Given the description of an element on the screen output the (x, y) to click on. 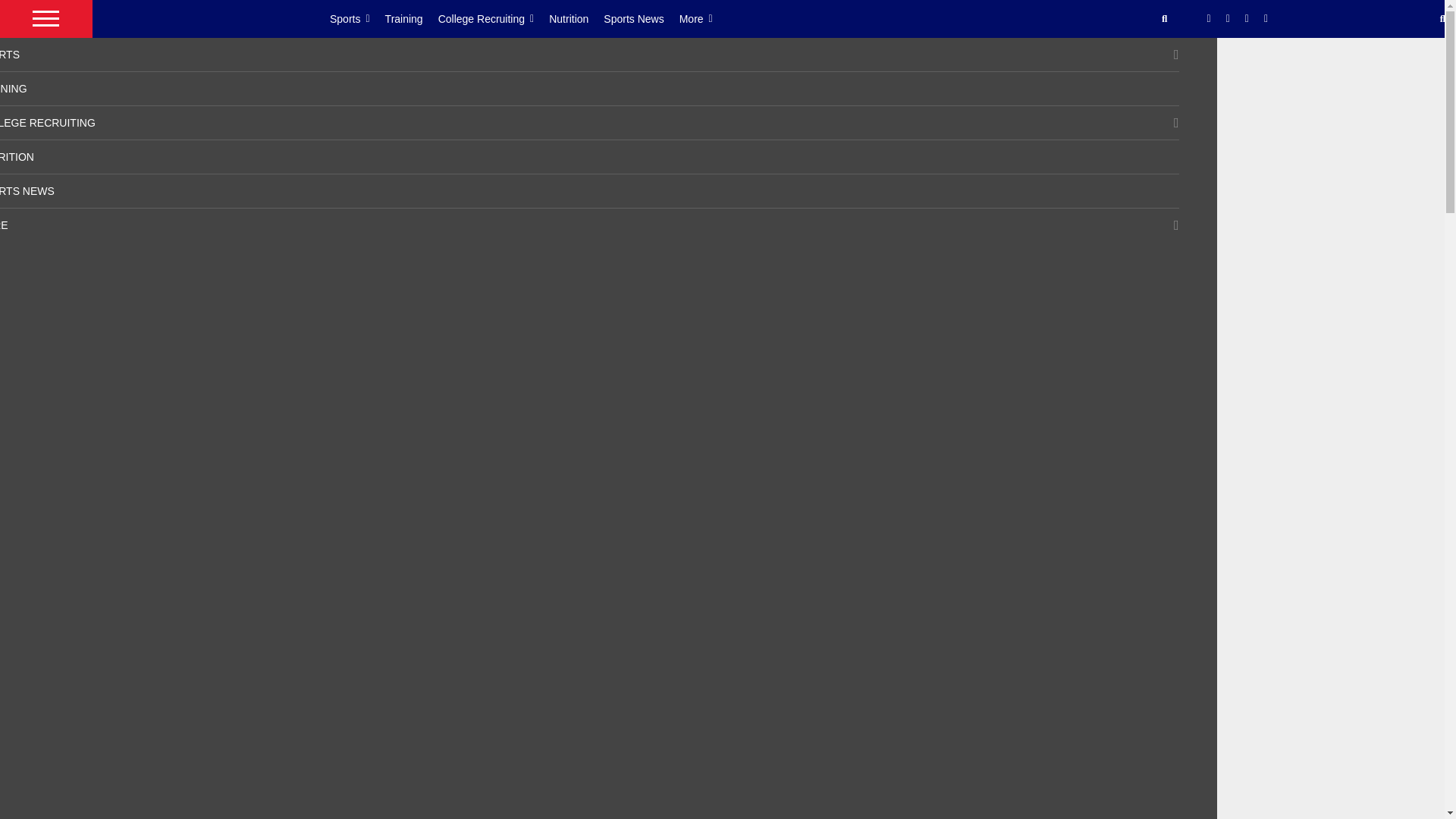
More (703, 18)
Sports News (641, 18)
College Recruiting (494, 18)
SPORTS (10, 54)
Training (411, 18)
Sports (357, 18)
Nutrition (576, 18)
